Given the description of an element on the screen output the (x, y) to click on. 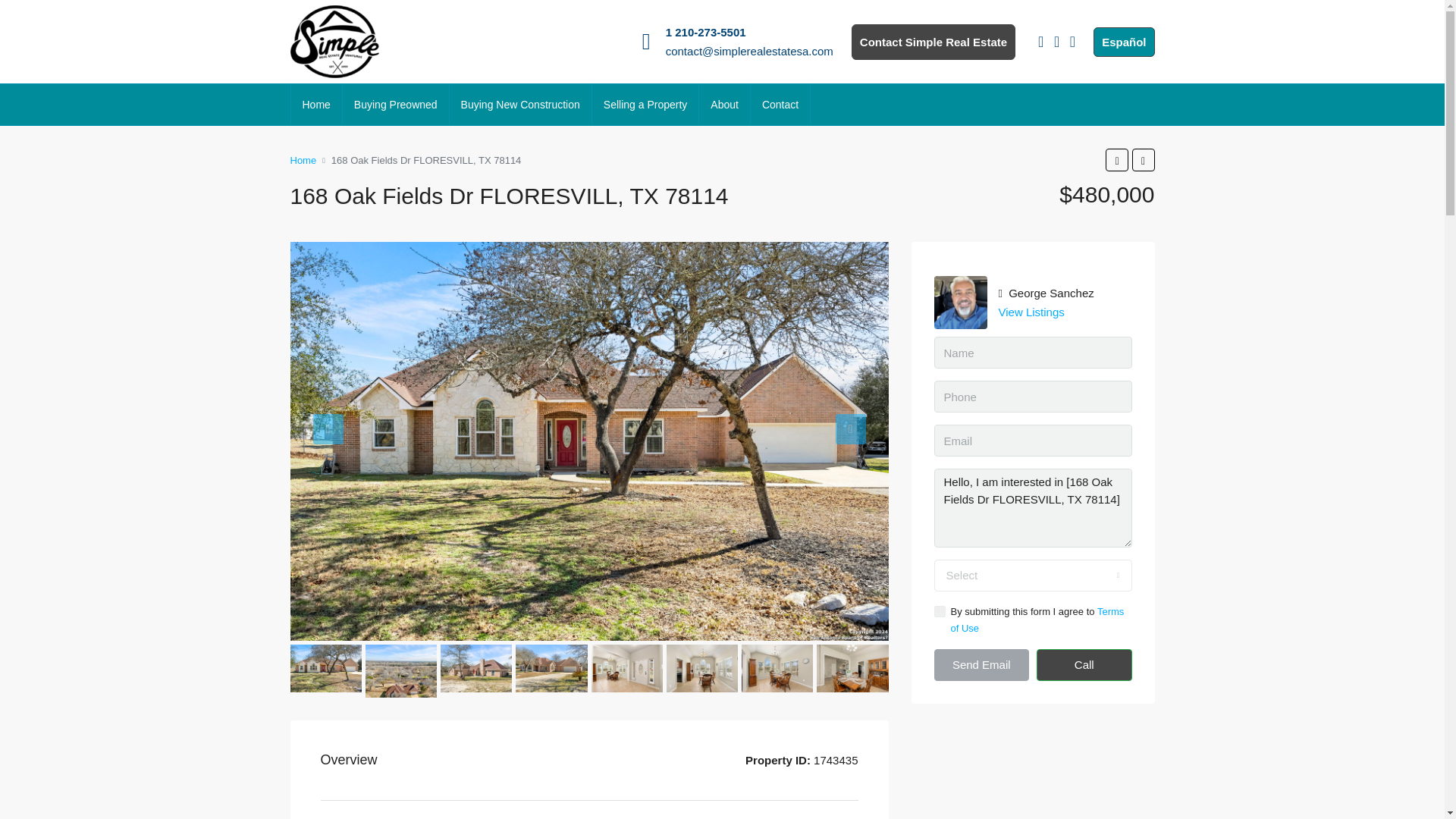
Selling a Property (645, 104)
Buying Preowned (395, 104)
1 210-273-5501 (705, 31)
Contact Simple Real Estate (932, 41)
About (723, 104)
Contact (780, 104)
Buying New Construction (520, 104)
Home (302, 158)
Home (316, 104)
